Given the description of an element on the screen output the (x, y) to click on. 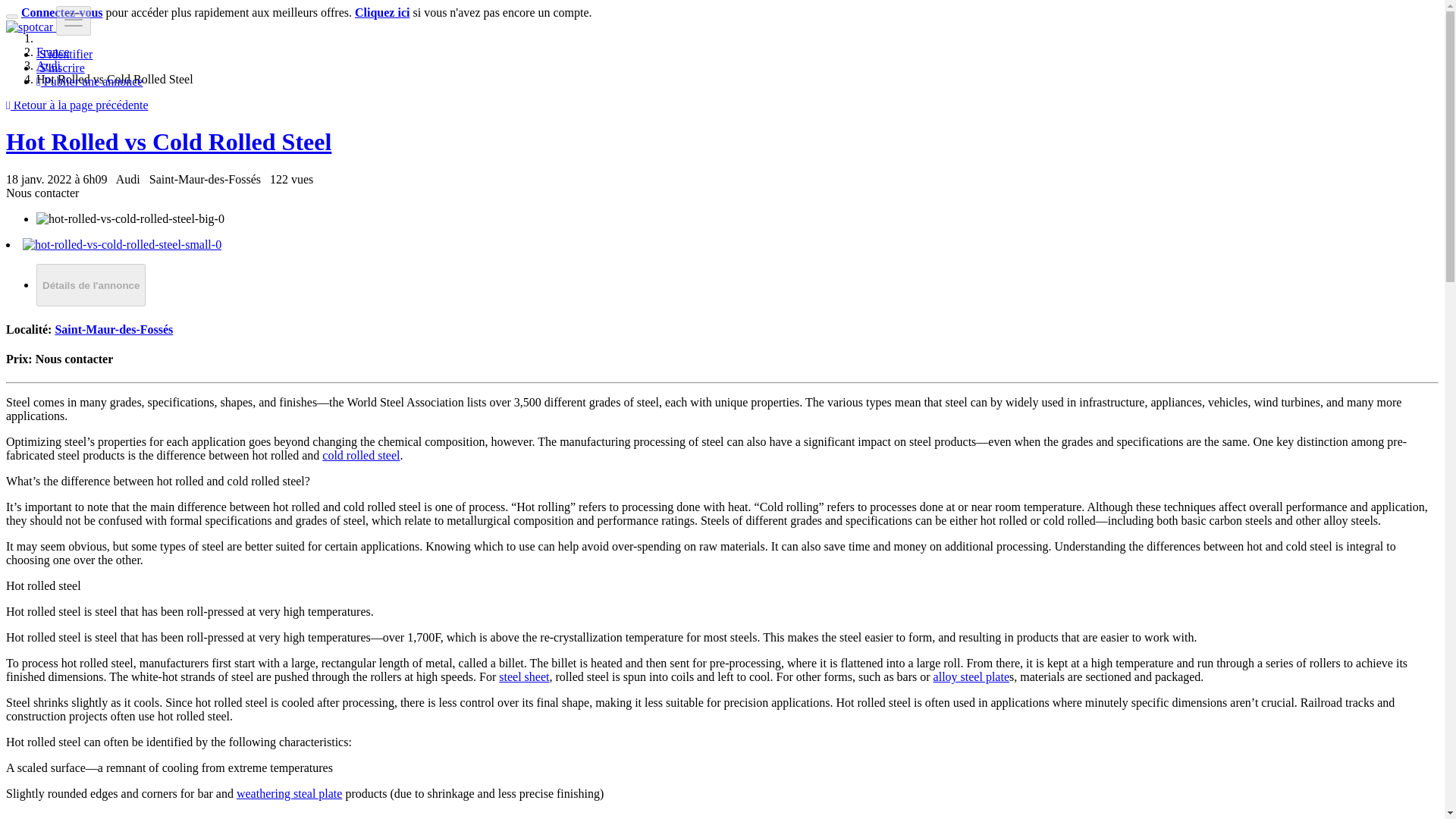
Connectez-vous (62, 11)
alloy steel plate (971, 676)
S'identifier (64, 53)
Hot Rolled vs Cold Rolled Steel (168, 141)
Menu (73, 20)
Hot Rolled vs Cold Rolled Steel (168, 141)
Menu (73, 19)
S'inscrire (60, 67)
cold rolled steel (359, 454)
Audi (48, 65)
